Given the description of an element on the screen output the (x, y) to click on. 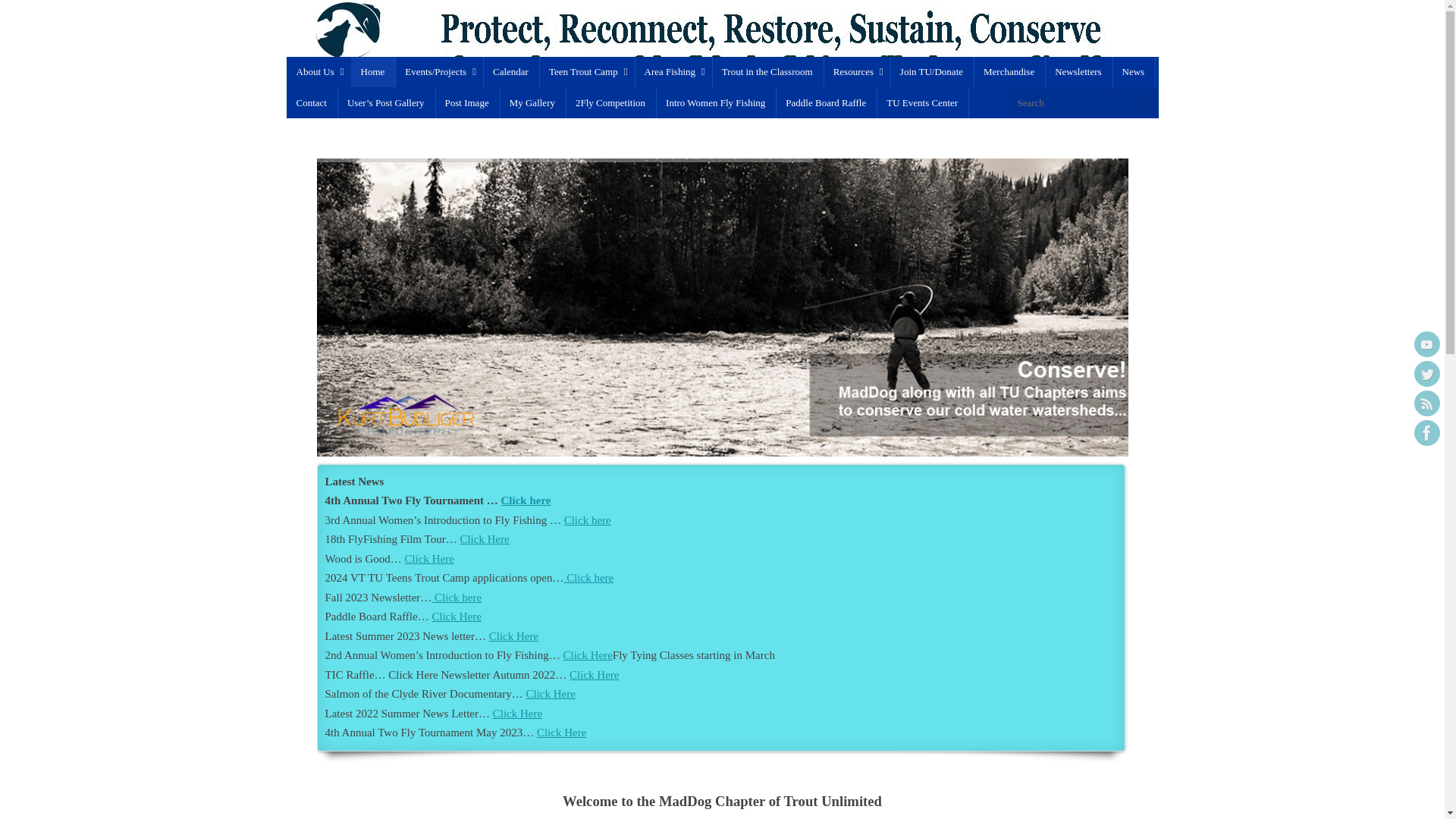
Intro Women Fly Fishing (587, 520)
Post Image (467, 101)
Intro Women Fly Fishing (716, 101)
Merchandise (1009, 71)
Contact (311, 101)
News (1134, 71)
2Fly Competition (525, 500)
News (429, 558)
Trout in the Classroom (767, 71)
Newsletters (455, 597)
Twitter (1426, 373)
Calendar (510, 71)
Area Fishing (672, 71)
About Us (318, 71)
Newsletters (513, 635)
